Given the description of an element on the screen output the (x, y) to click on. 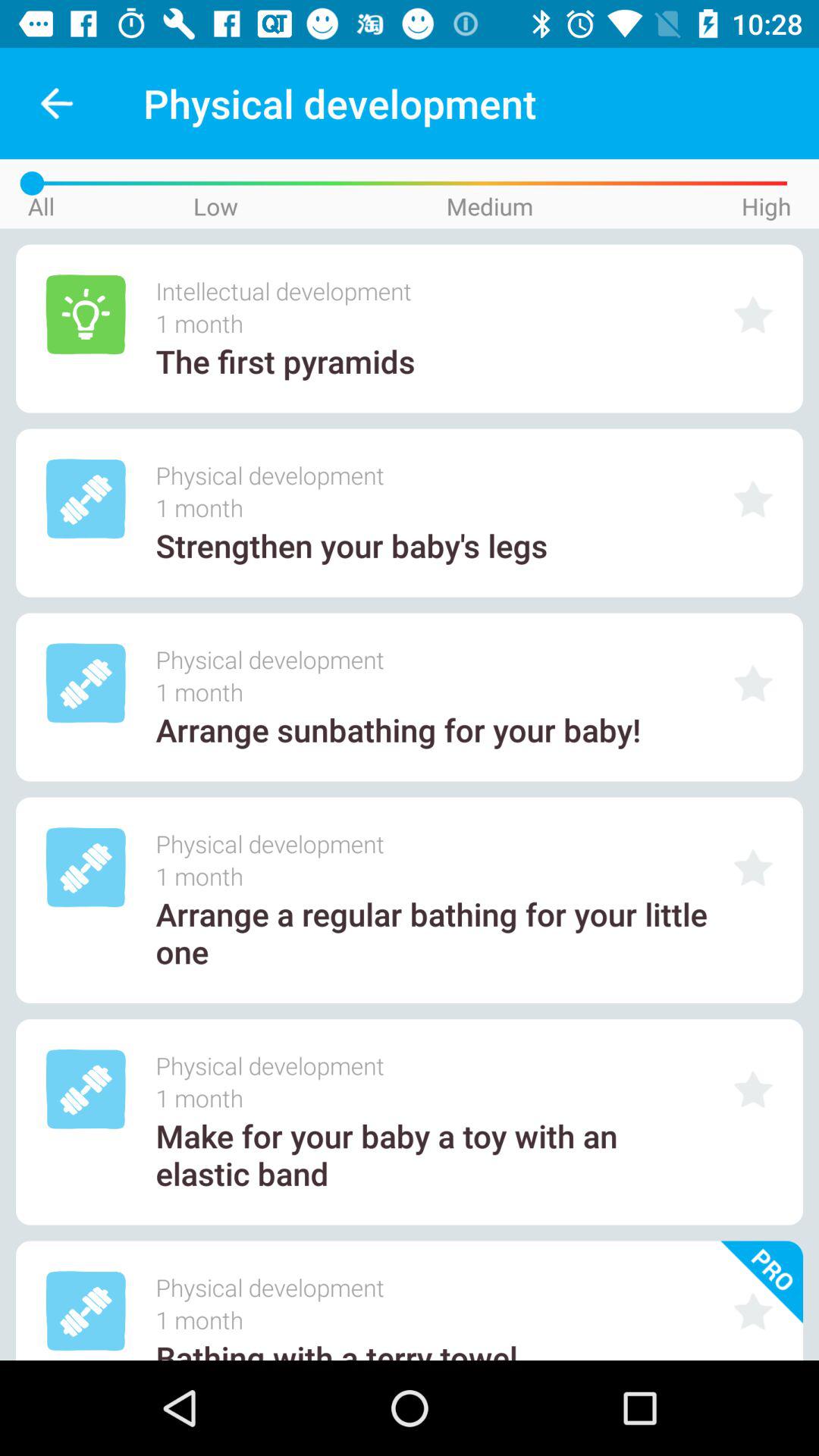
fovread (753, 314)
